Given the description of an element on the screen output the (x, y) to click on. 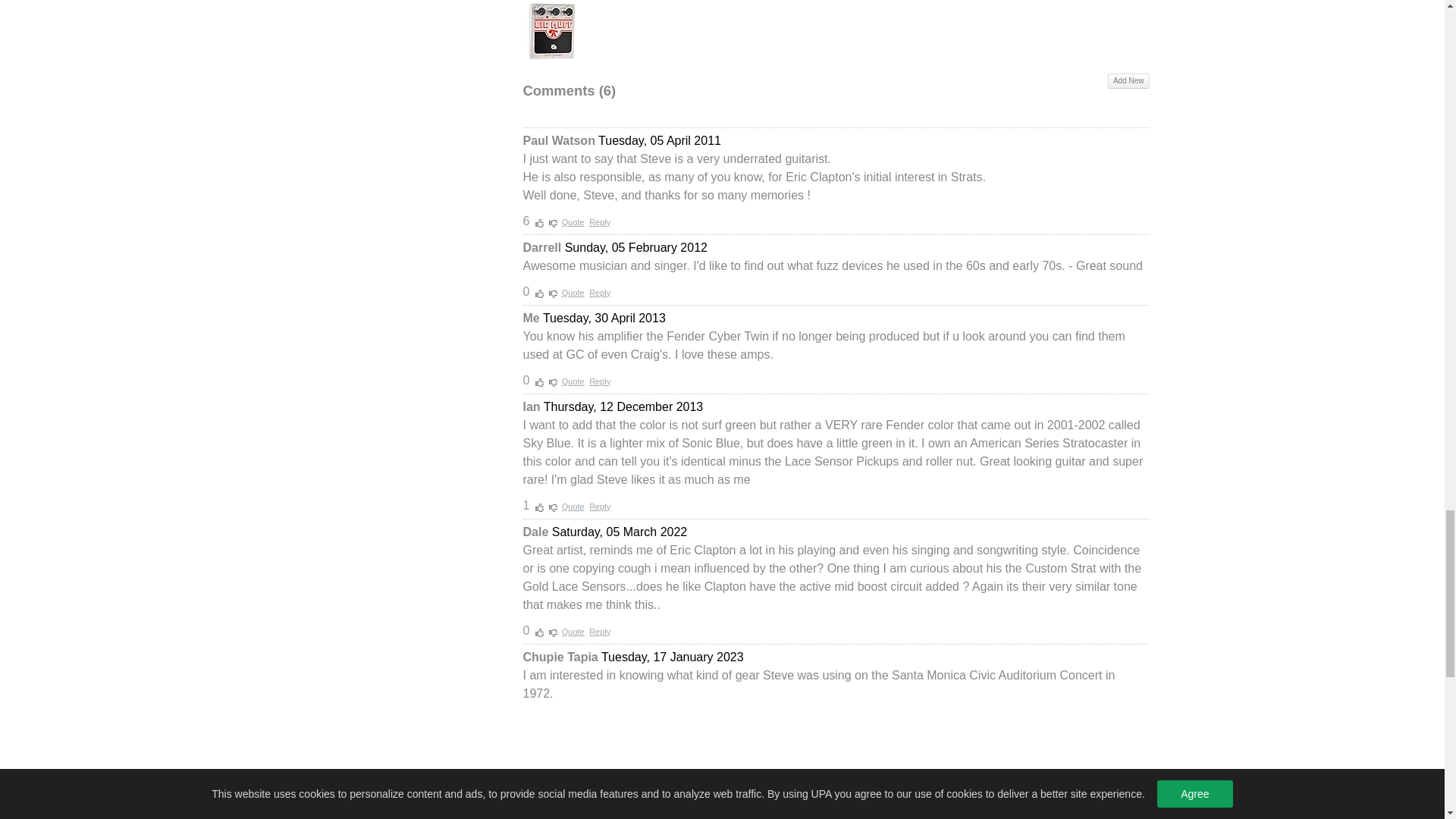
Tuesday, 05 April 2011 (659, 140)
Sunday, 05 February 2012 (635, 246)
Quote (572, 222)
Saturday, 05 March 2022 (619, 531)
Reply (599, 381)
Thursday, 12 December 2013 (623, 406)
Reply (599, 506)
Tuesday, 30 April 2013 (604, 318)
Reply (599, 222)
Add New (1129, 80)
Quote (572, 506)
Reply (599, 292)
Quote (572, 381)
Tuesday, 17 January 2023 (672, 656)
Reply (599, 631)
